Given the description of an element on the screen output the (x, y) to click on. 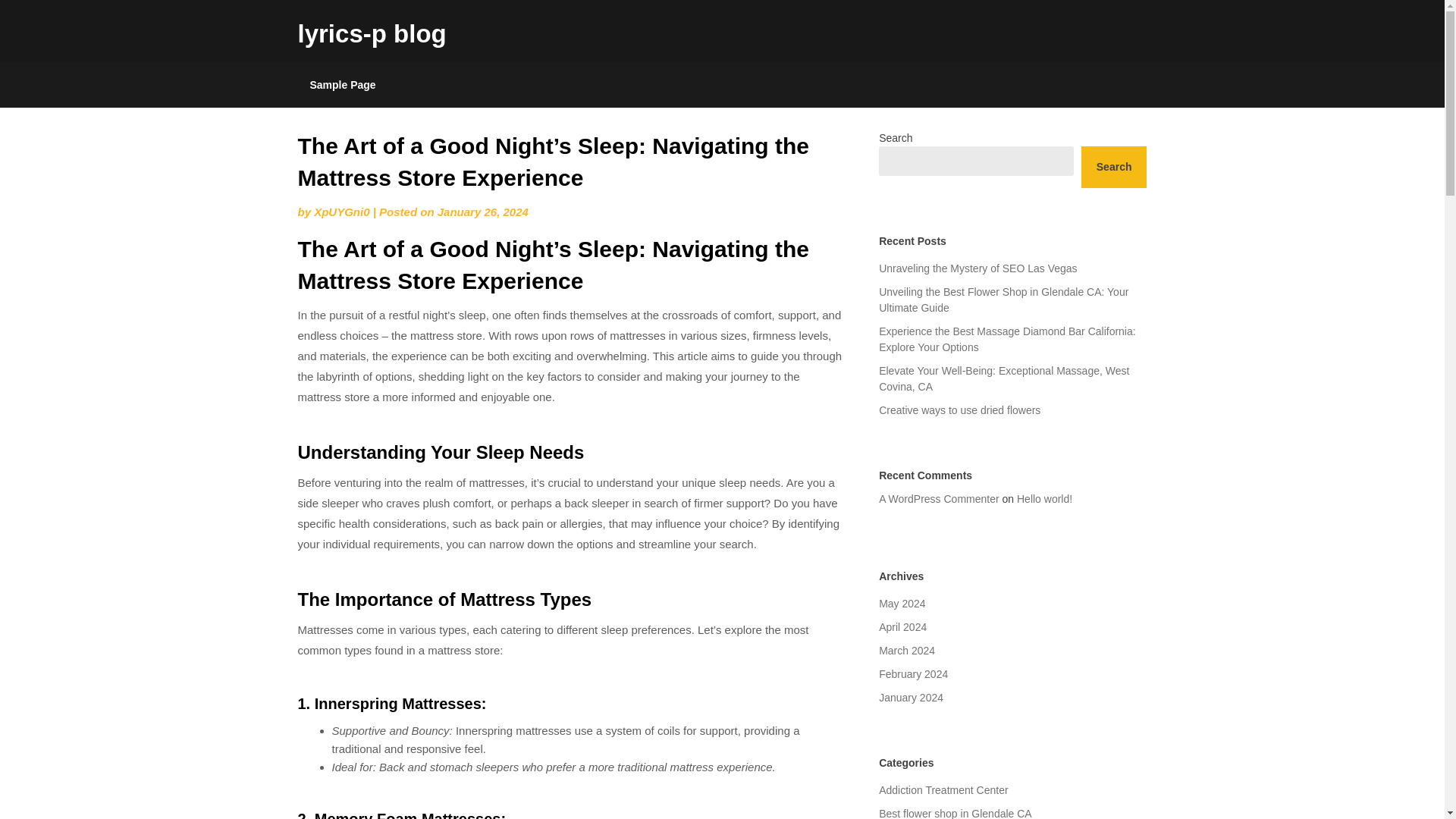
XpUYGni0 (341, 211)
January 26, 2024 (483, 211)
February 2024 (913, 674)
May 2024 (901, 603)
Search (1114, 167)
Sample Page (342, 84)
Hello world! (1043, 499)
lyrics-p blog (371, 33)
Addiction Treatment Center (943, 789)
January 2024 (911, 697)
March 2024 (906, 650)
April 2024 (902, 626)
